Given the description of an element on the screen output the (x, y) to click on. 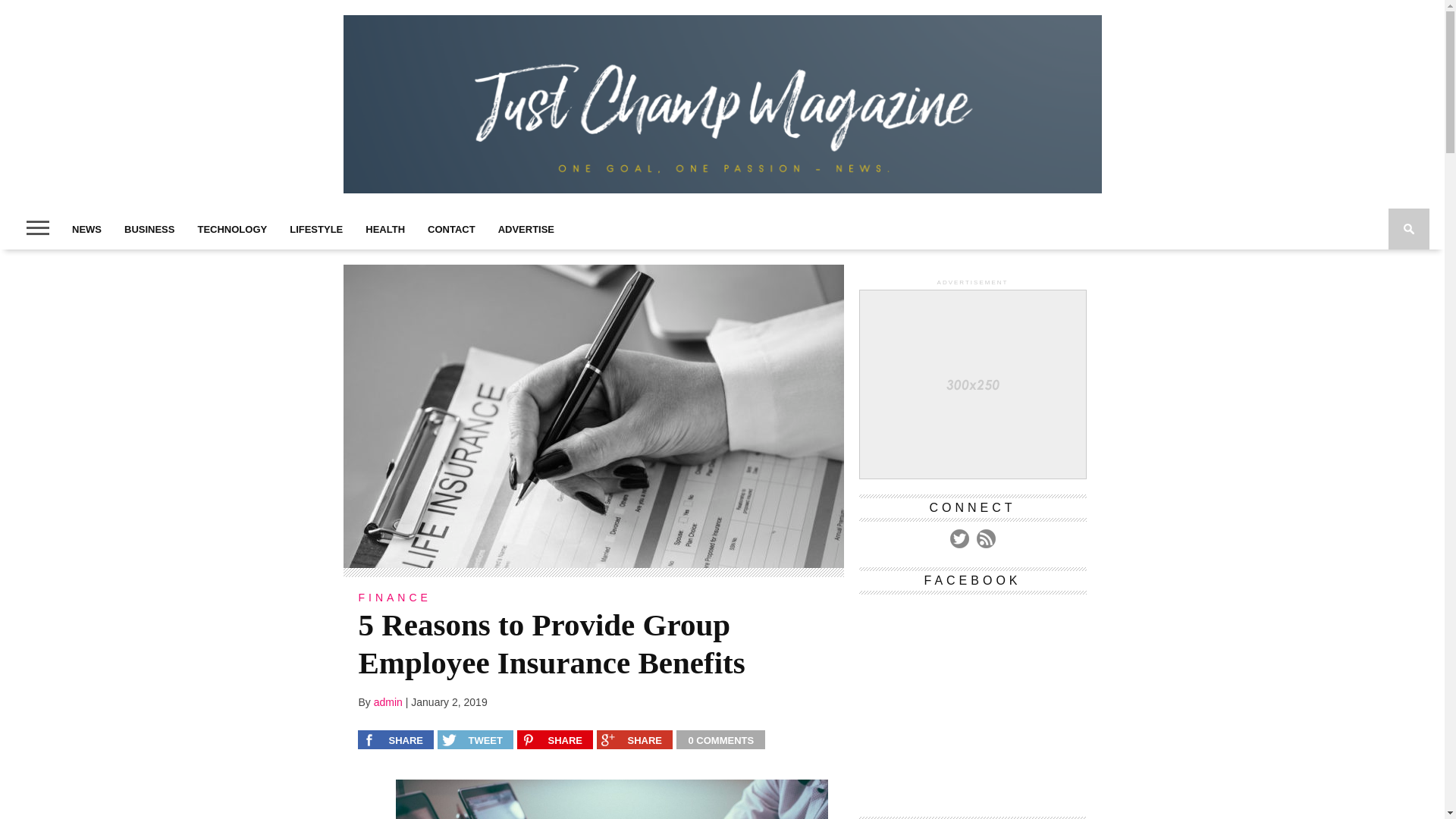
CONTACT (451, 228)
BUSINESS (149, 228)
TECHNOLOGY (232, 228)
HEALTH (384, 228)
LIFESTYLE (315, 228)
ADVERTISE (526, 228)
NEWS (87, 228)
admin (388, 702)
Posts by admin (388, 702)
